Given the description of an element on the screen output the (x, y) to click on. 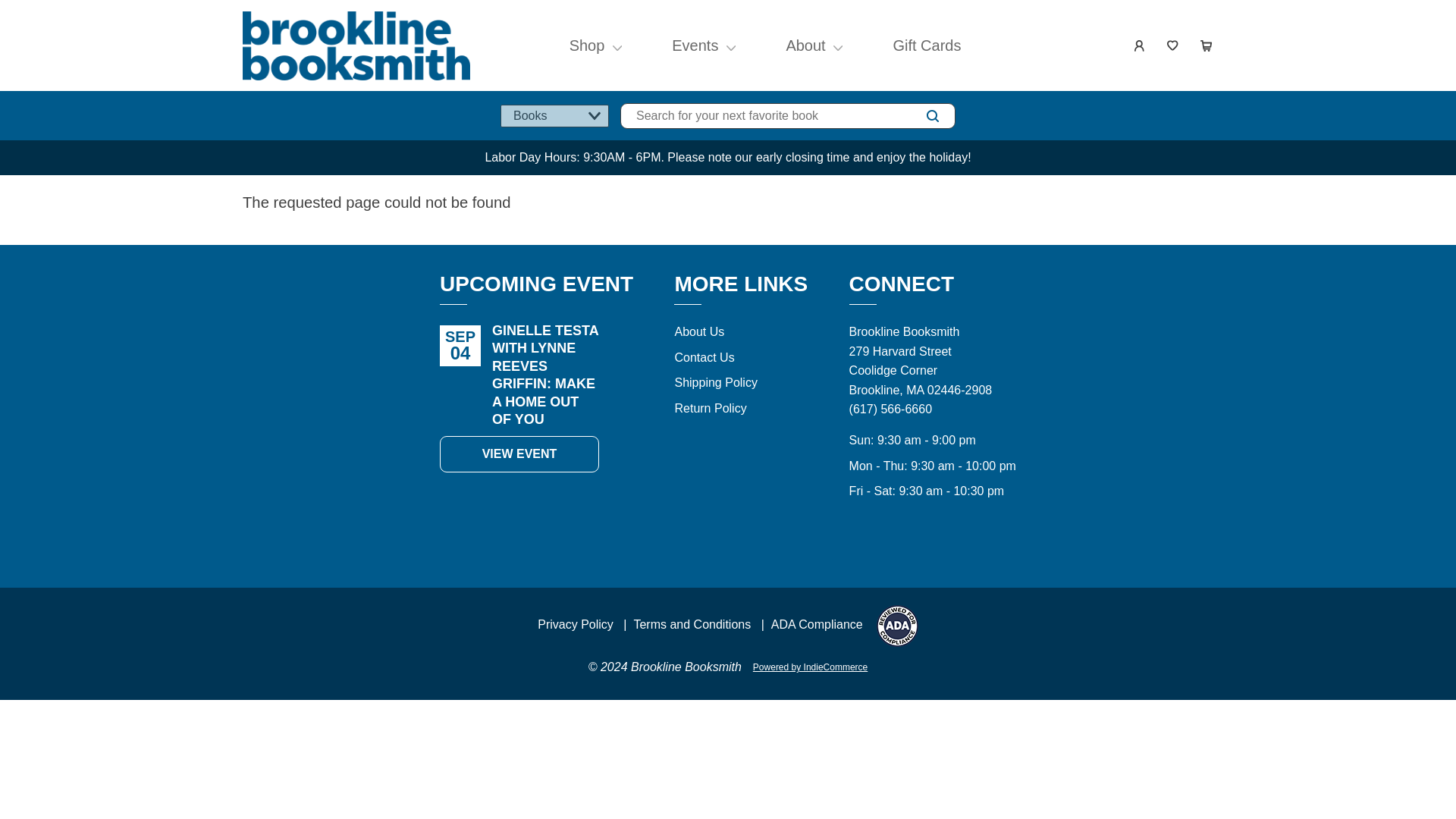
Cart (1206, 45)
Connect with Facebook (891, 534)
Connect with Youtube Channel (924, 534)
Gift Cards (926, 45)
VIEW EVENT (518, 453)
Connect with Instagram (857, 534)
Shipping Policy (715, 382)
Cart (1206, 45)
About Us (698, 331)
Return Policy (709, 408)
